Given the description of an element on the screen output the (x, y) to click on. 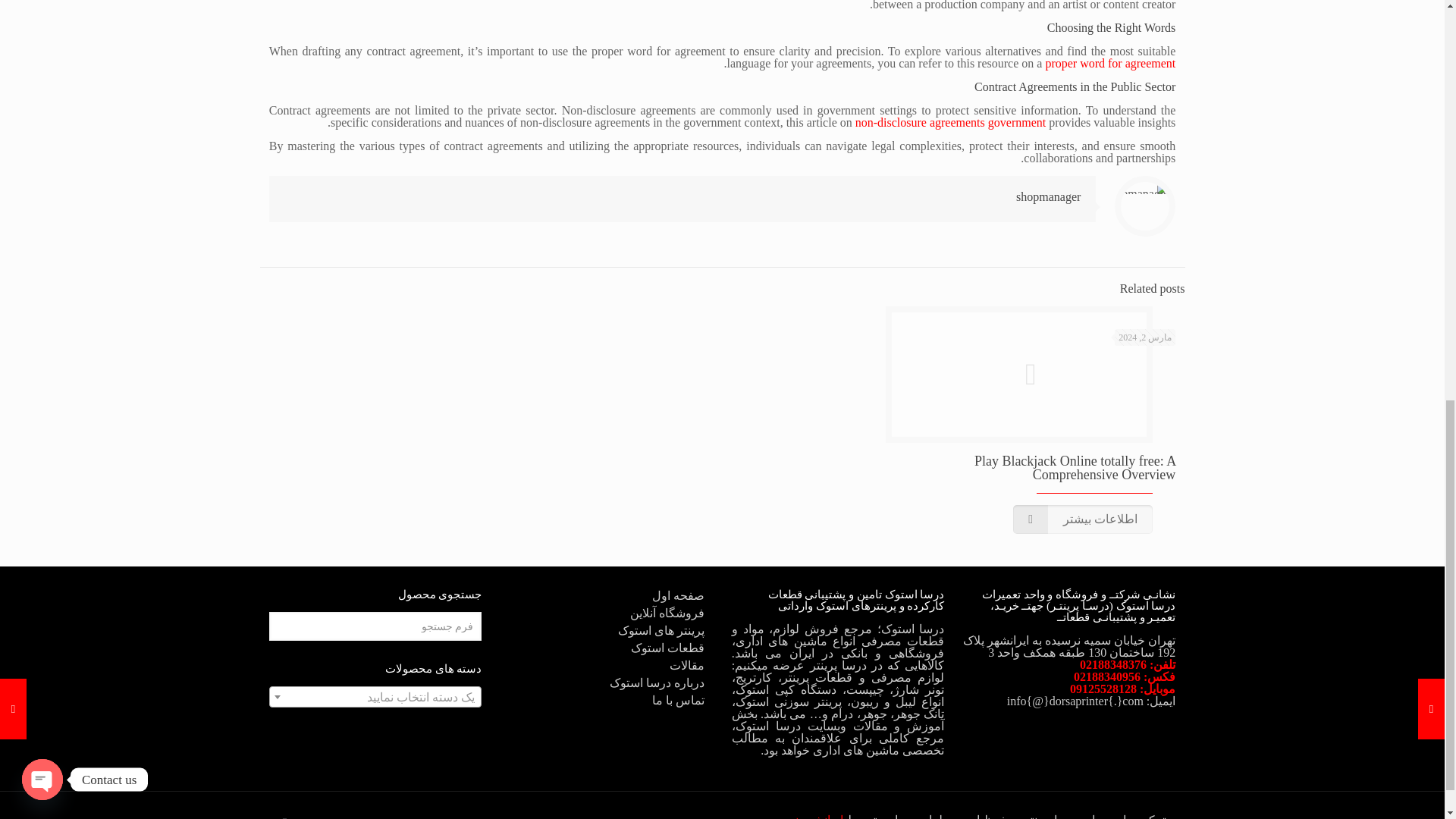
proper word for agreement (1109, 62)
non-disclosure agreements government (950, 122)
shopmanager (1048, 196)
Play Blackjack Online totally free: A Comprehensive Overview (1074, 467)
